Given the description of an element on the screen output the (x, y) to click on. 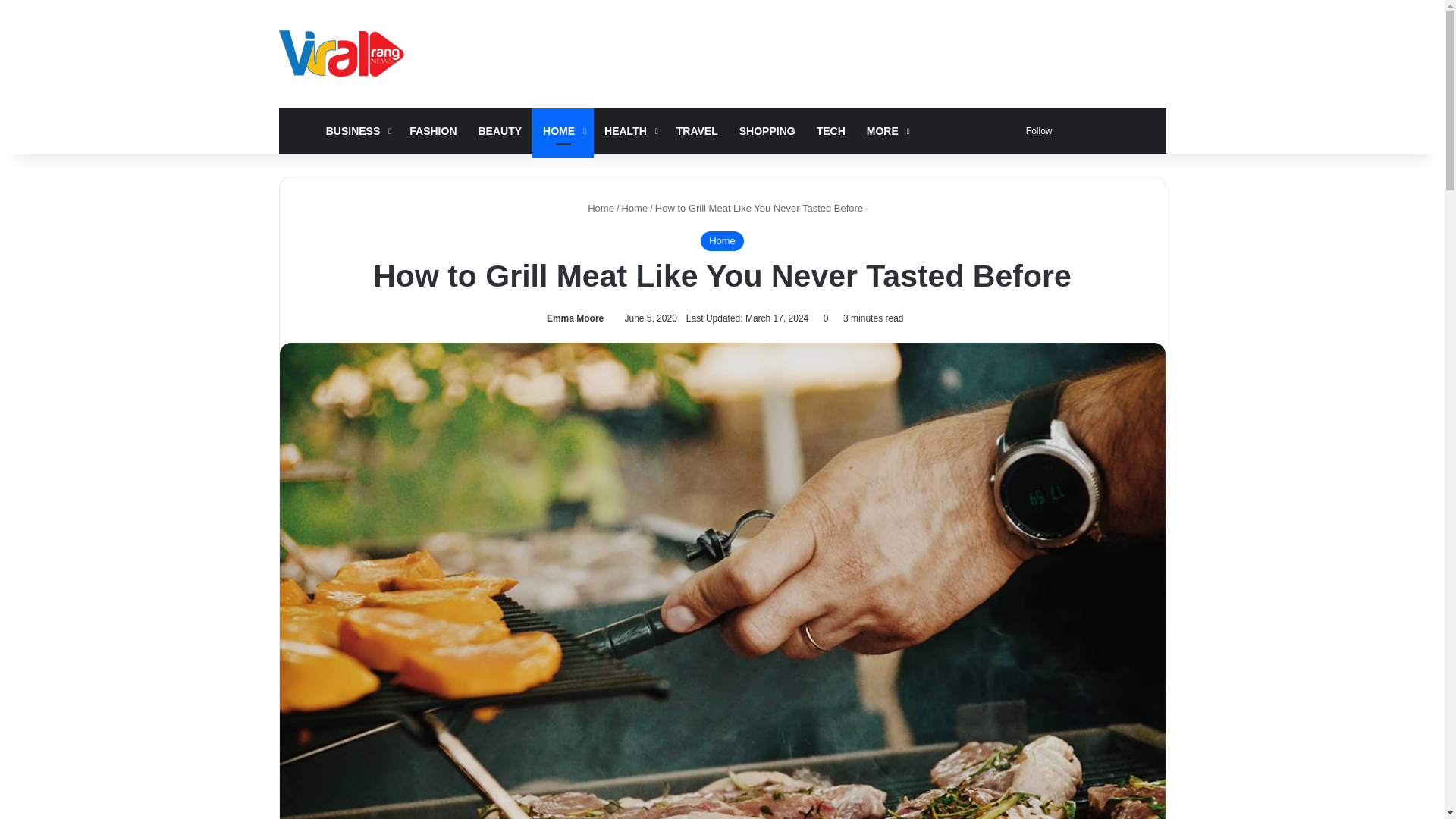
Follow (1035, 130)
TECH (831, 130)
Emma Moore (572, 317)
MORE (886, 130)
FASHION (432, 130)
HEALTH (629, 130)
BEAUTY (499, 130)
Viral Rang (344, 53)
TRAVEL (697, 130)
BUSINESS (356, 130)
